Given the description of an element on the screen output the (x, y) to click on. 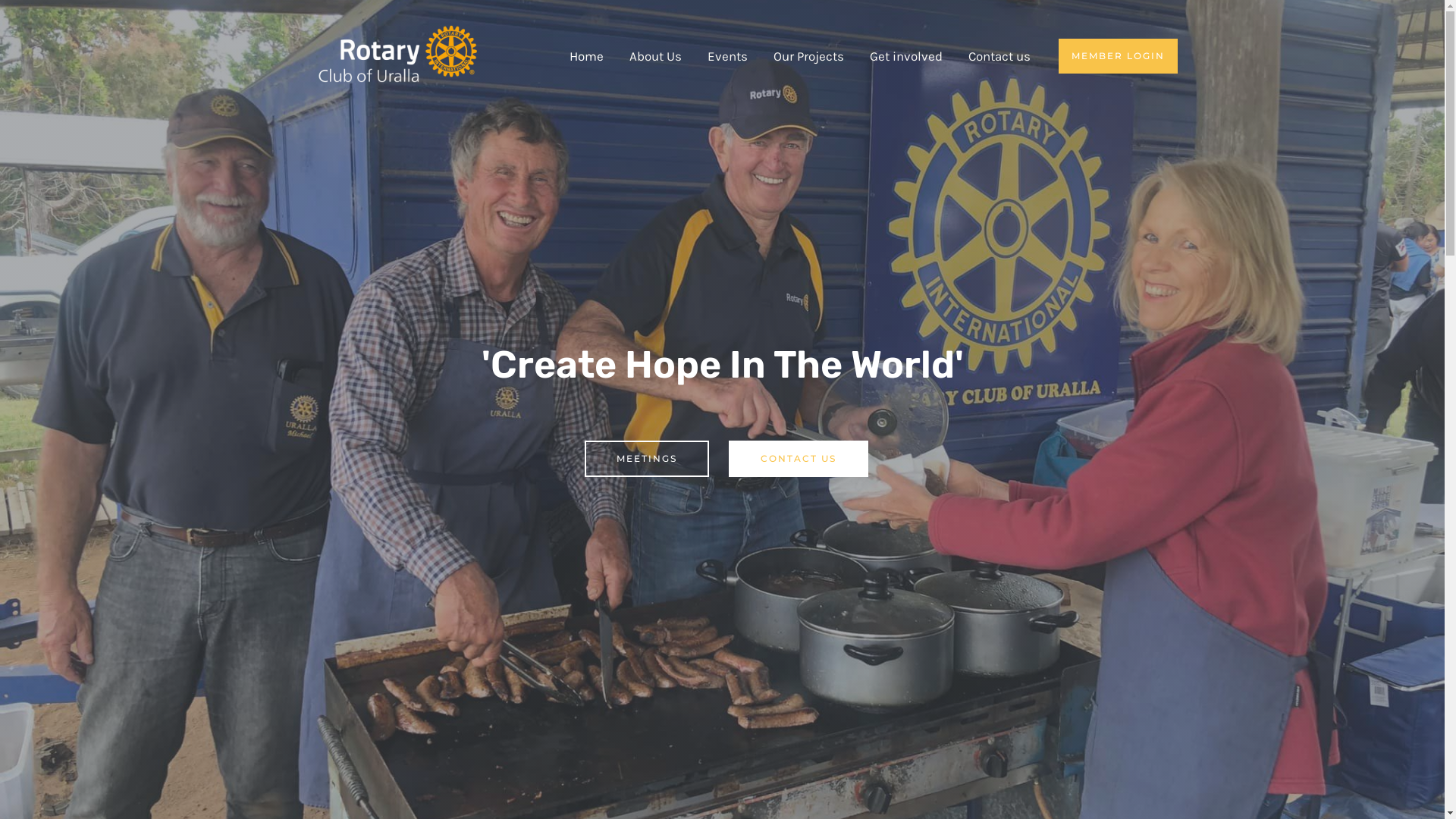
MEETINGS Element type: text (645, 458)
CONTACT US Element type: text (797, 458)
Events Element type: text (727, 55)
Our Projects Element type: text (807, 55)
Get involved Element type: text (905, 55)
MEMBER LOGIN Element type: text (1117, 55)
About Us Element type: text (654, 55)
Contact us Element type: text (999, 55)
Home Element type: text (586, 55)
